Given the description of an element on the screen output the (x, y) to click on. 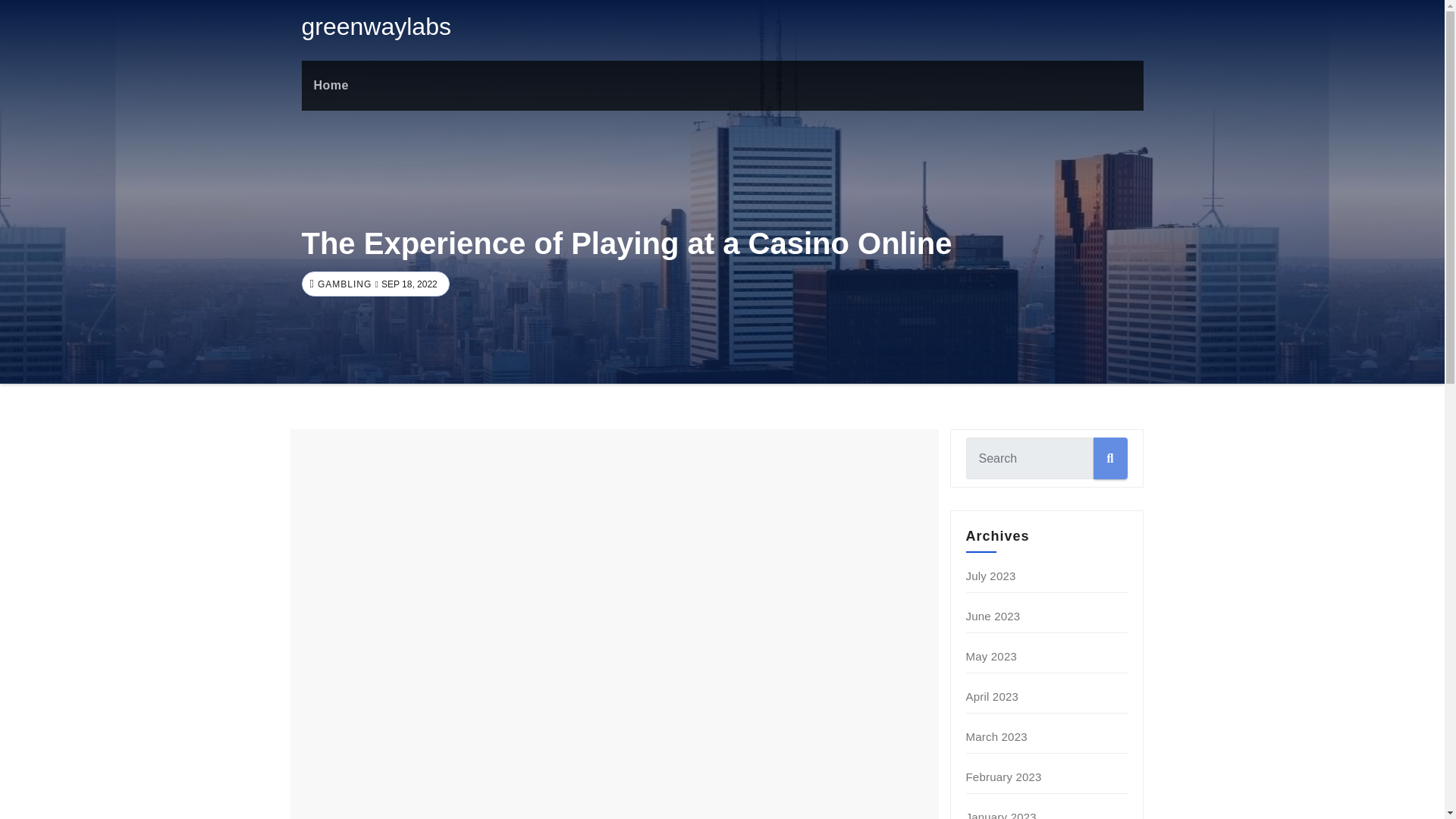
greenwaylabs (376, 26)
January 2023 (1001, 814)
May 2023 (991, 656)
March 2023 (996, 736)
February 2023 (1004, 776)
GAMBLING (342, 284)
April 2023 (992, 696)
July 2023 (991, 575)
June 2023 (993, 615)
Home (331, 85)
Home (331, 85)
